Given the description of an element on the screen output the (x, y) to click on. 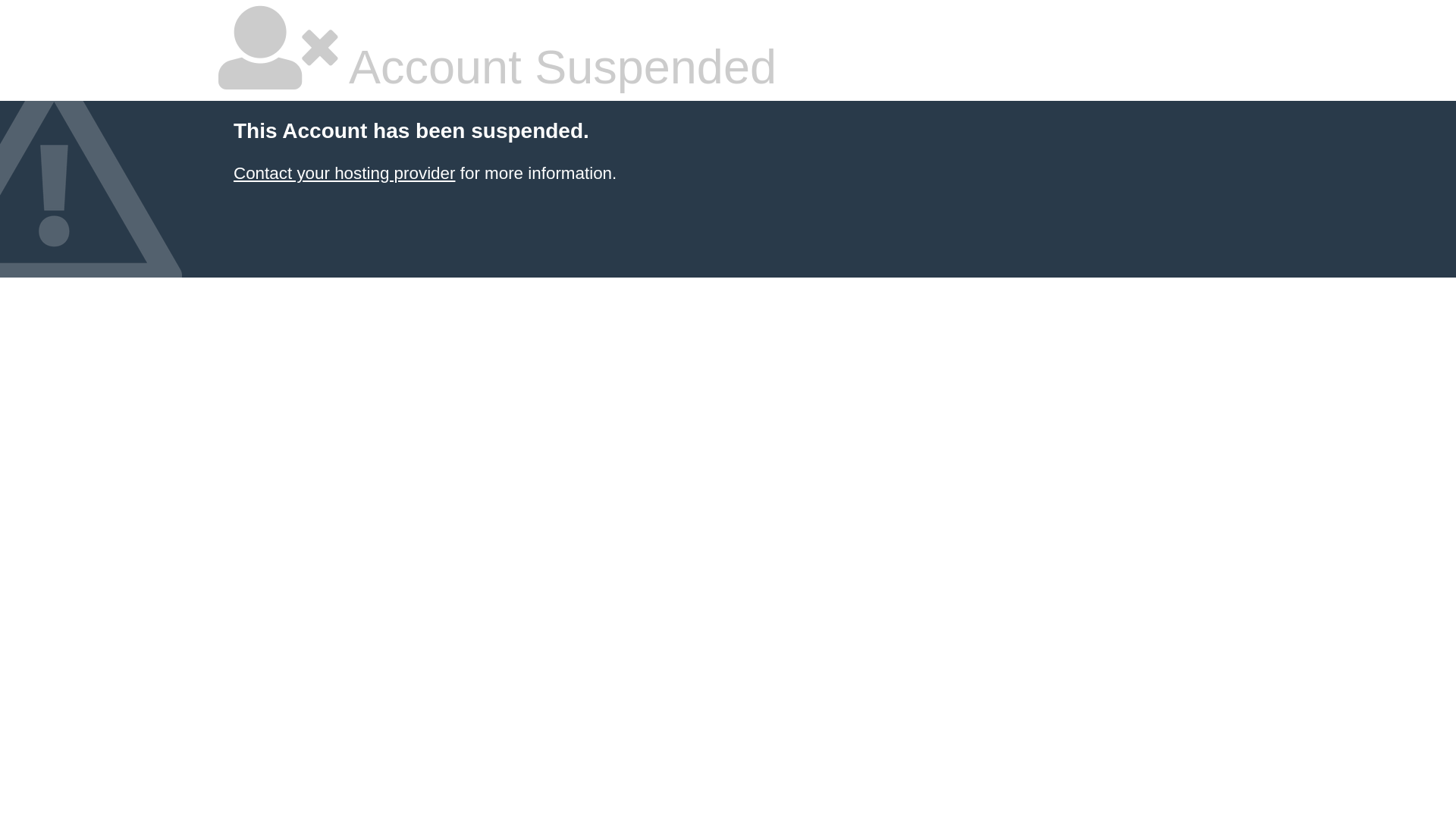
Contact your hosting provider Element type: text (344, 172)
